Given the description of an element on the screen output the (x, y) to click on. 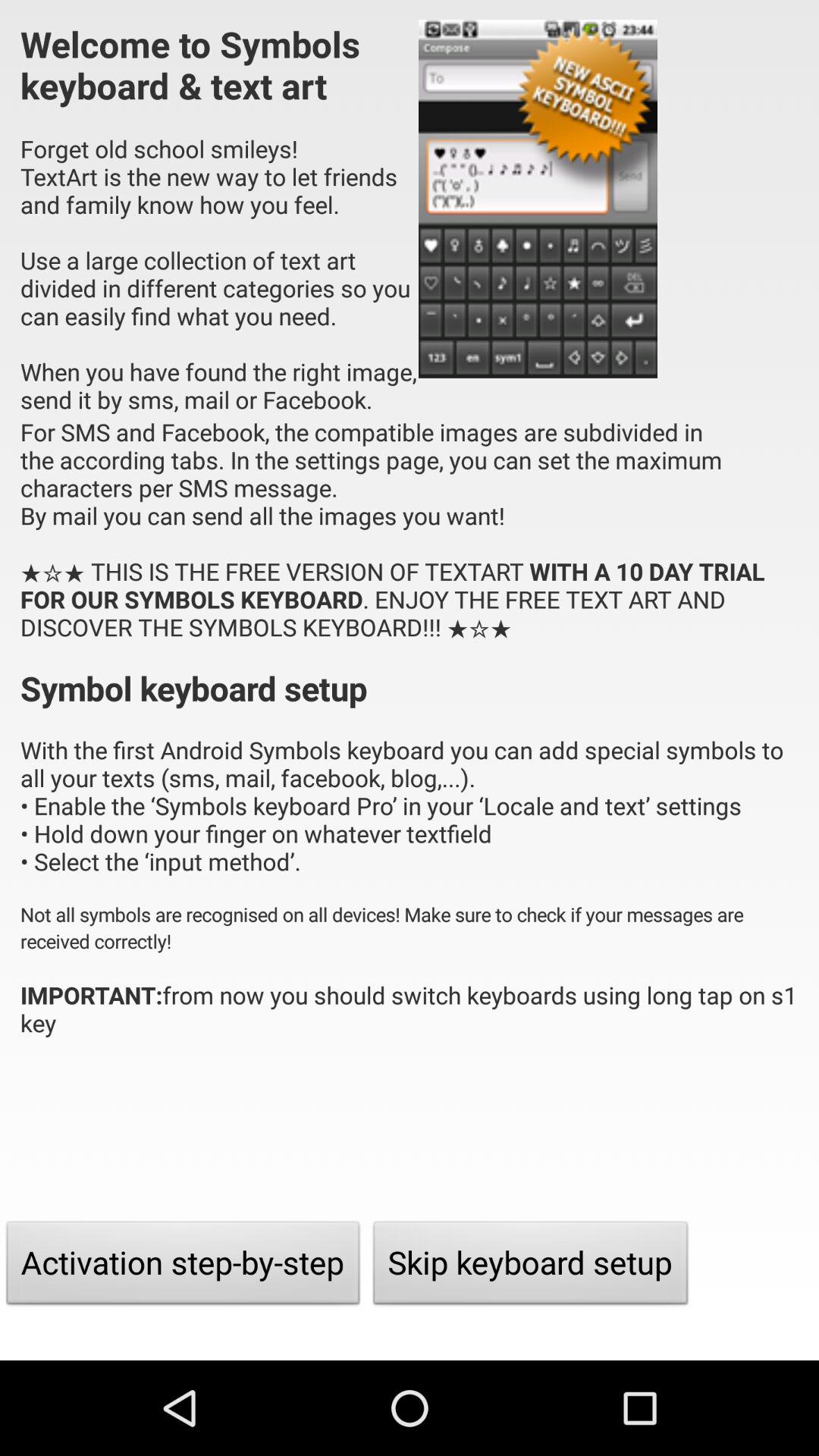
select the item at the bottom left corner (183, 1266)
